Given the description of an element on the screen output the (x, y) to click on. 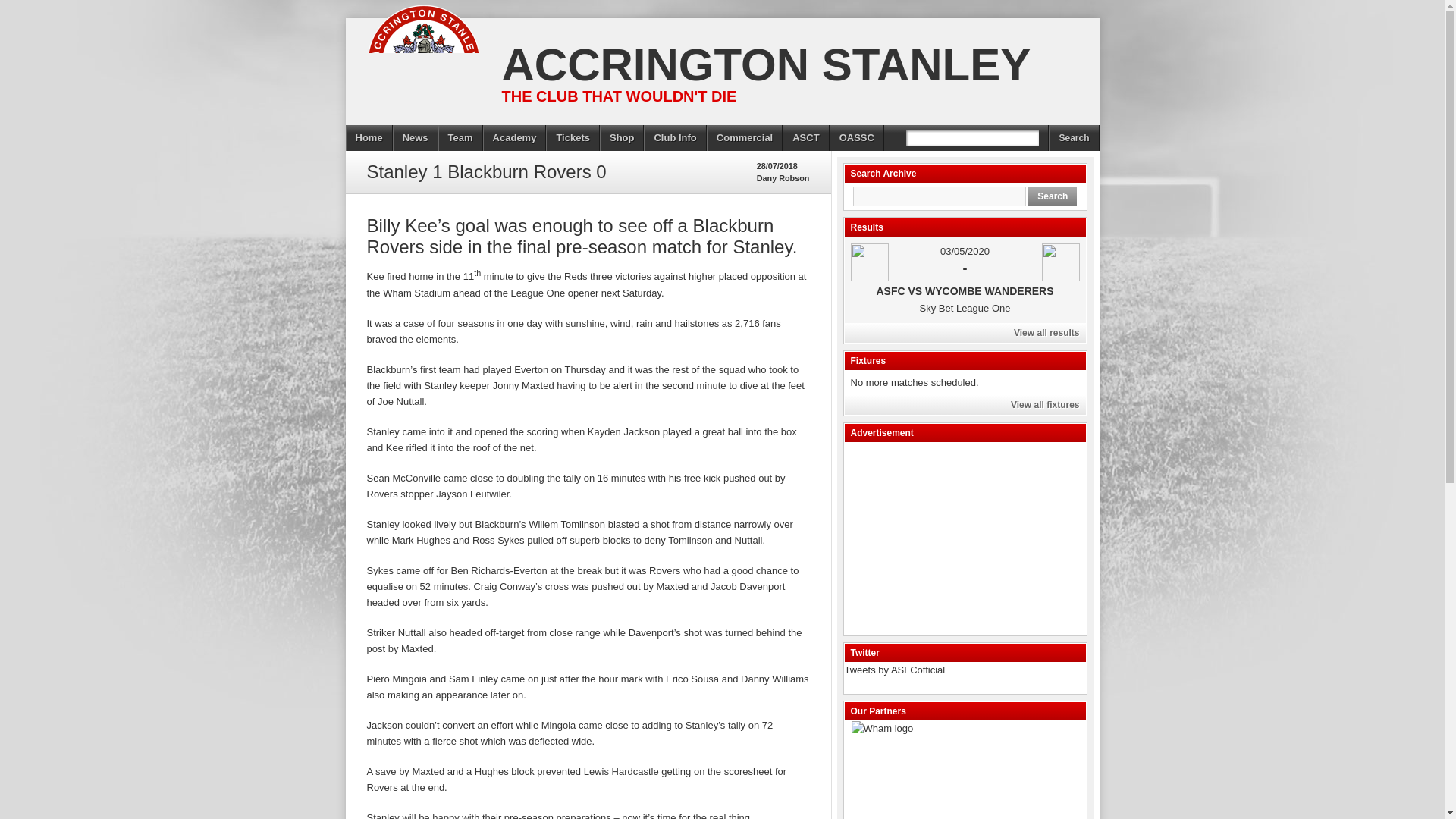
Search (1073, 137)
Twitter (357, 152)
Team (460, 137)
Shop (621, 137)
Club Info (674, 137)
YouTube (390, 152)
Wycombe Wanderers (1061, 262)
THE CLUB THAT WOULDN'T DIE (612, 95)
Search (1052, 196)
Posts by Dany Robson (783, 177)
Home (368, 137)
Facebook (324, 152)
News (415, 137)
ACCRINGTON STANLEY (759, 64)
Tickets (572, 137)
